Given the description of an element on the screen output the (x, y) to click on. 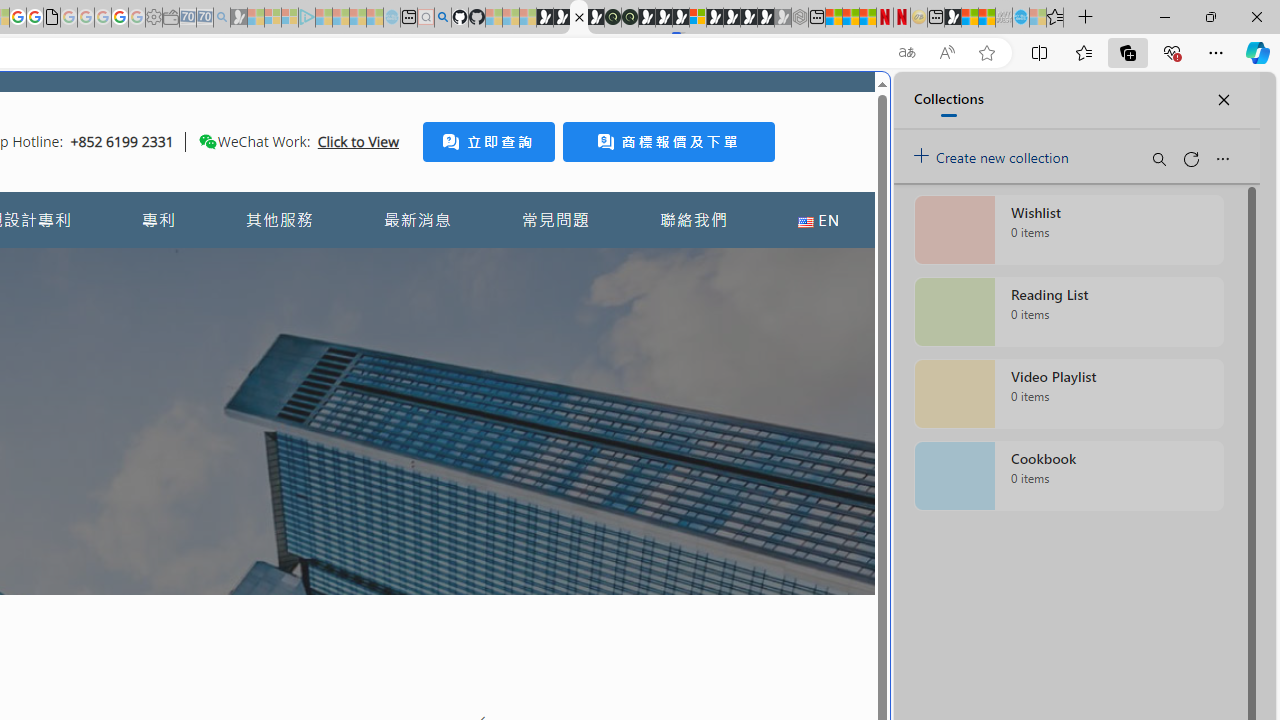
Navy Quest (1003, 17)
google_privacy_policy_zh-CN.pdf (51, 17)
Bing Real Estate - Home sales and rental listings - Sleeping (221, 17)
Tabs you've opened (276, 265)
EN (818, 220)
Microsoft account | Privacy - Sleeping (289, 17)
